Given the description of an element on the screen output the (x, y) to click on. 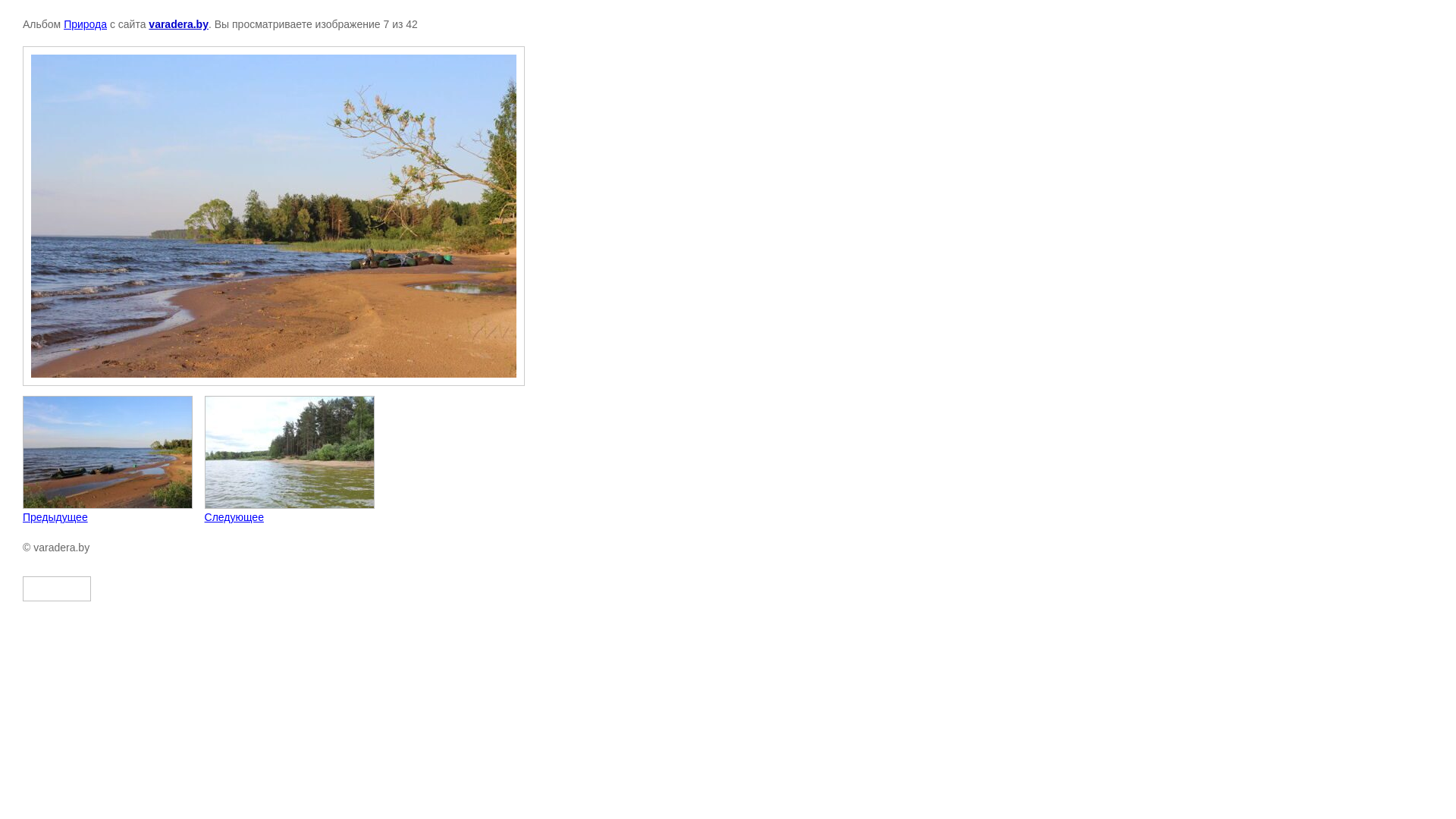
varadera.by Element type: text (178, 24)
